Given the description of an element on the screen output the (x, y) to click on. 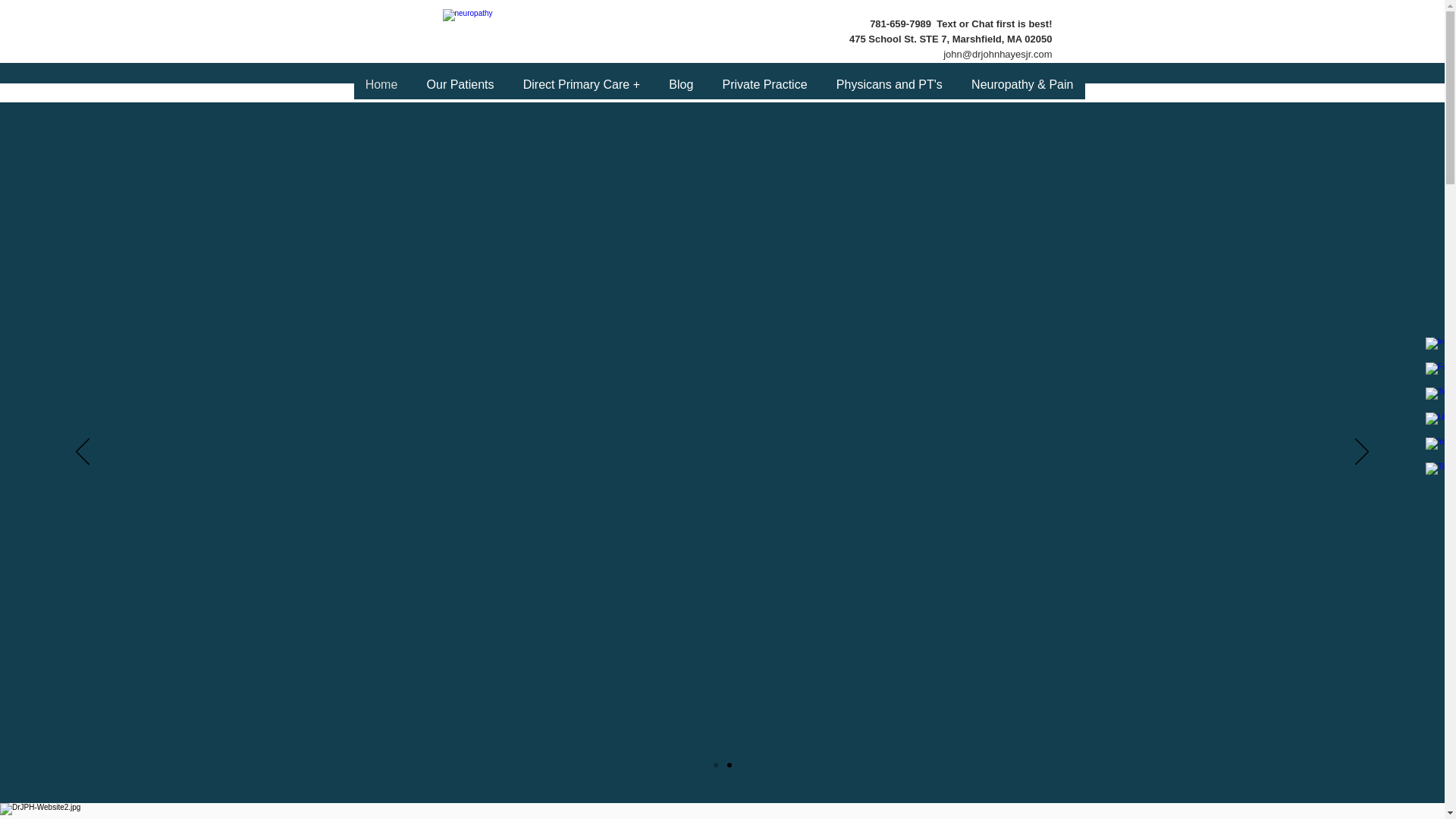
Physicans and PT's (889, 84)
Our Patients (459, 84)
Blog (681, 84)
Private Practice (764, 84)
Home (381, 84)
